Given the description of an element on the screen output the (x, y) to click on. 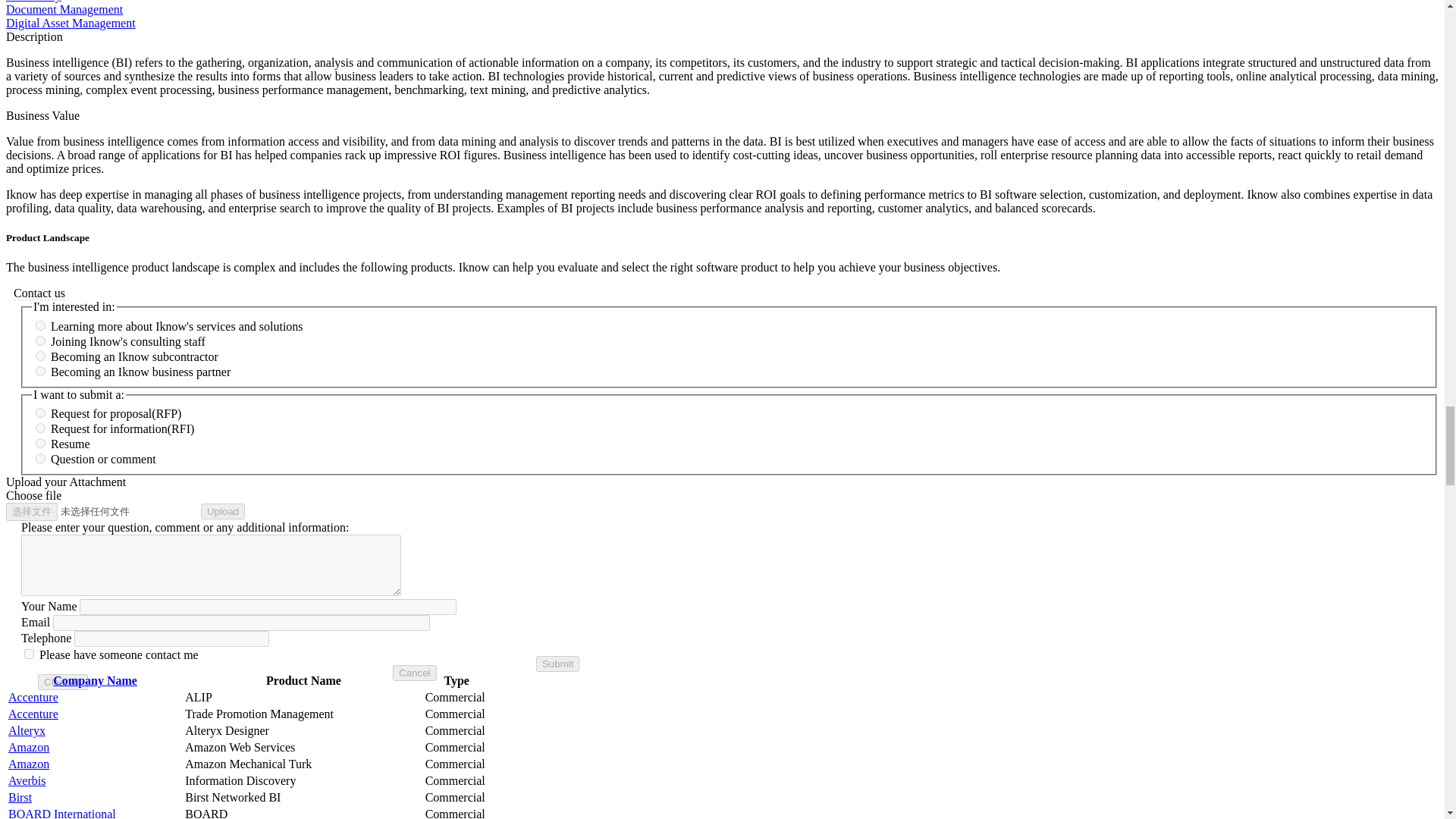
Becoming an Iknow subcontractor (39, 356)
Resume (39, 442)
Learning more about Iknow's services and solutions (39, 325)
sort by Company Name (94, 680)
Joining Iknow's consulting staff (39, 340)
1 (28, 654)
Becoming an Iknow business partner (39, 370)
Question or comment (39, 458)
